Given the description of an element on the screen output the (x, y) to click on. 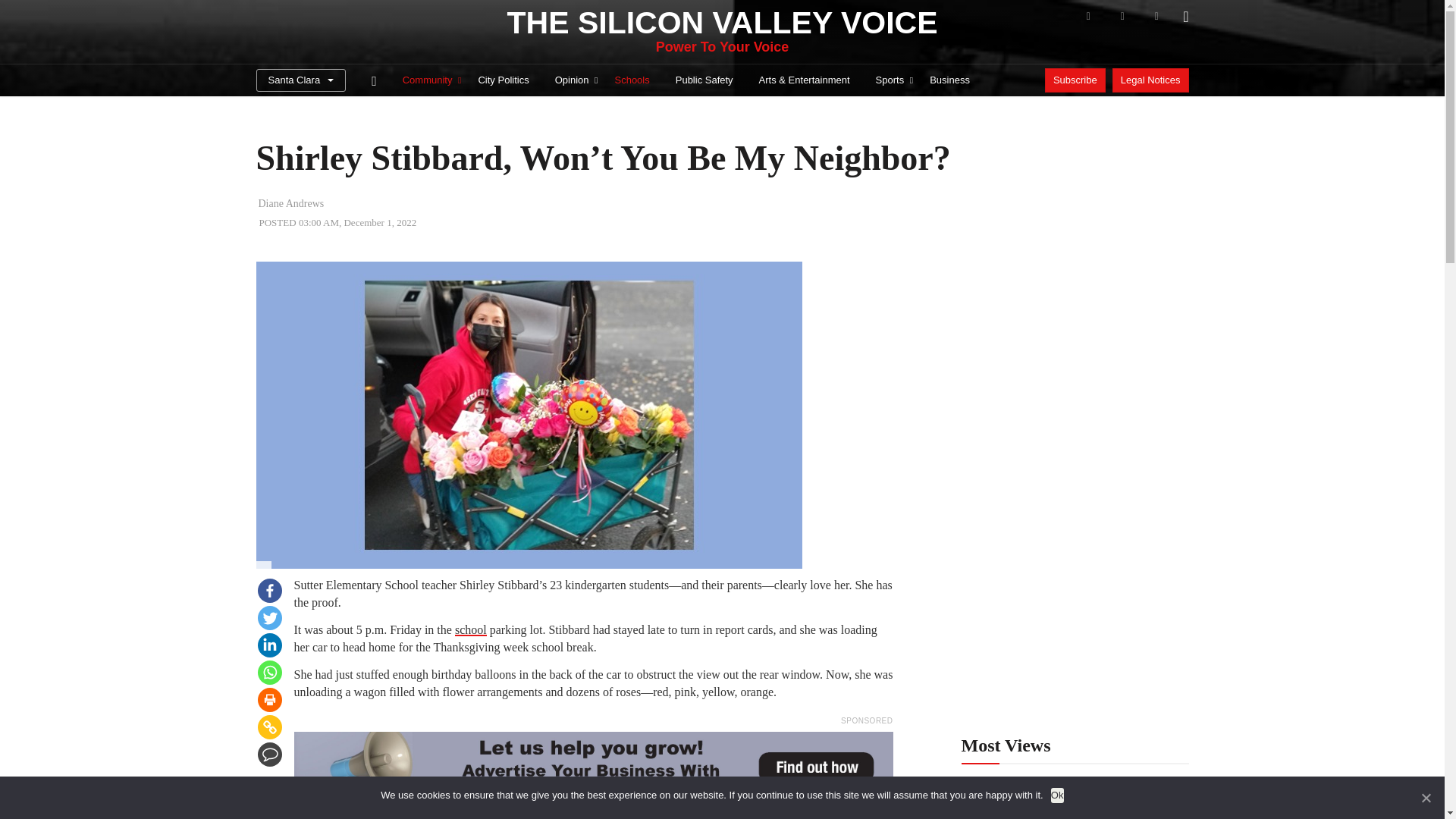
Comment (269, 754)
THE SILICON VALLEY VOICE (721, 22)
ion-social-facebook (1088, 15)
Print (269, 699)
Community (427, 80)
Copy Link (269, 726)
Santa Clara (301, 80)
Whatsapp (269, 672)
Linkedin (269, 645)
Posts by Diane Andrews (290, 203)
ion-social-instagram (1155, 15)
Twitter (269, 617)
Facebook (269, 590)
ion-social-twitter (1122, 15)
